Given the description of an element on the screen output the (x, y) to click on. 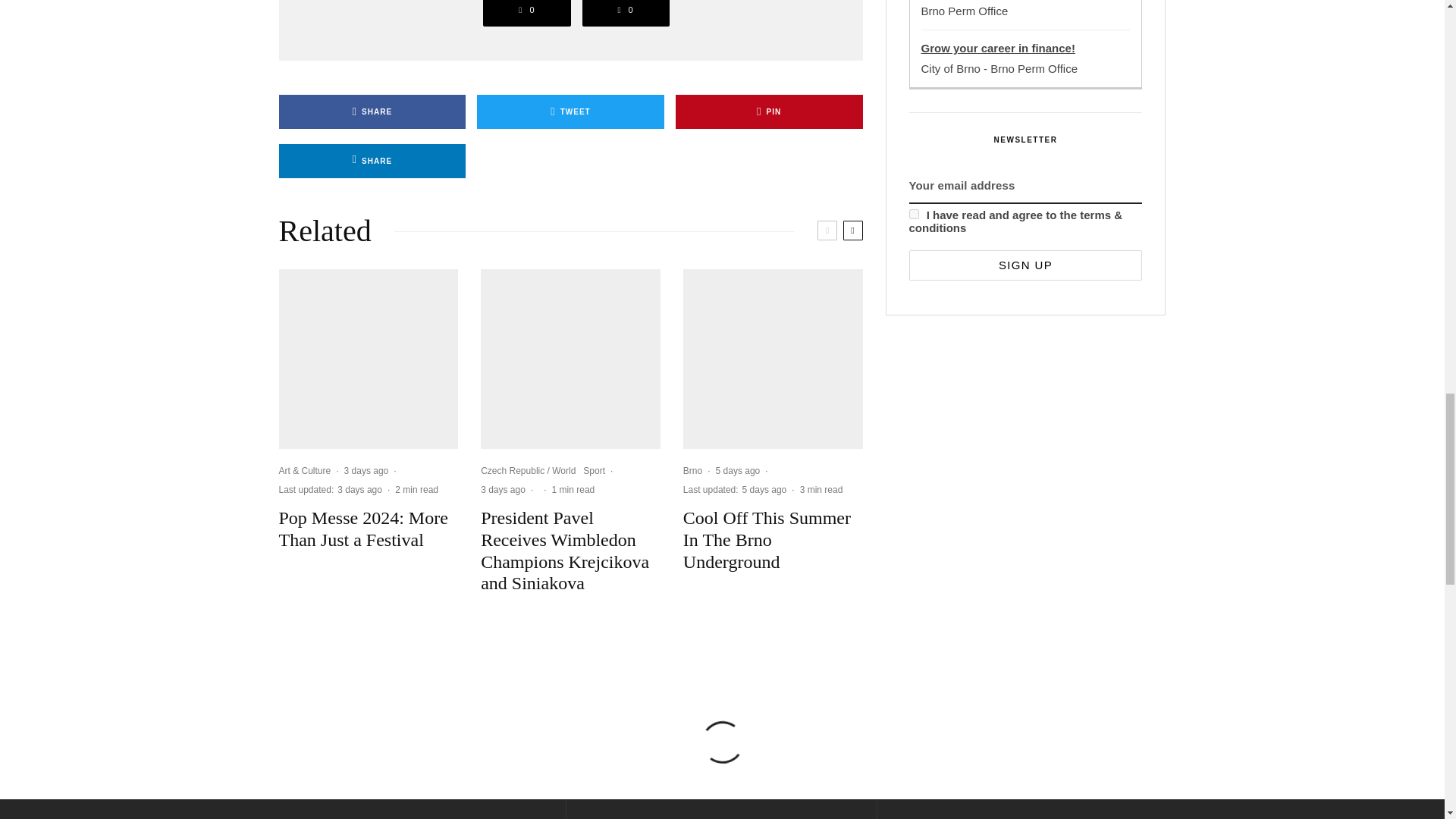
1 (913, 214)
Sign up (1024, 265)
